Given the description of an element on the screen output the (x, y) to click on. 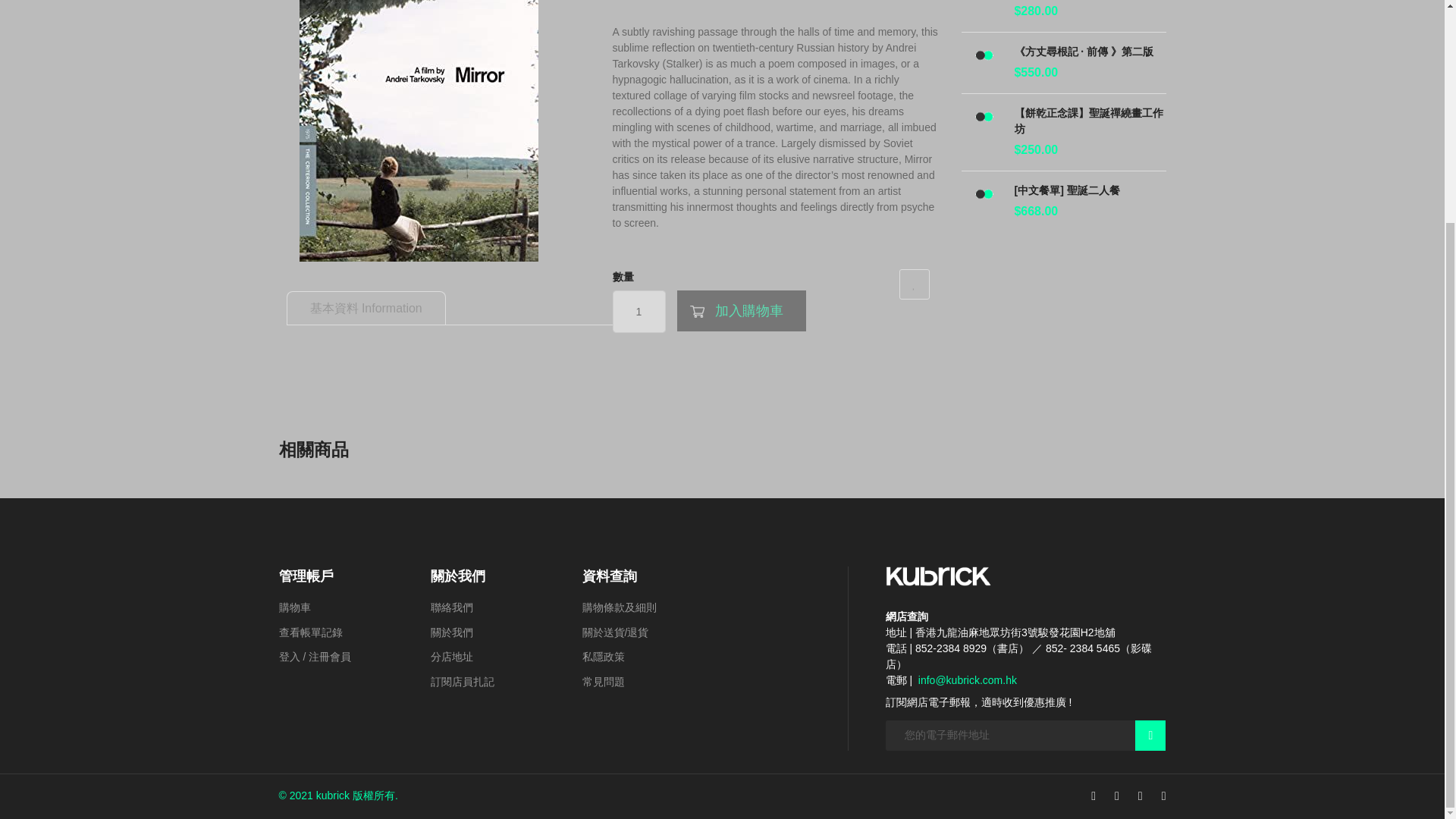
1 (638, 311)
